Given the description of an element on the screen output the (x, y) to click on. 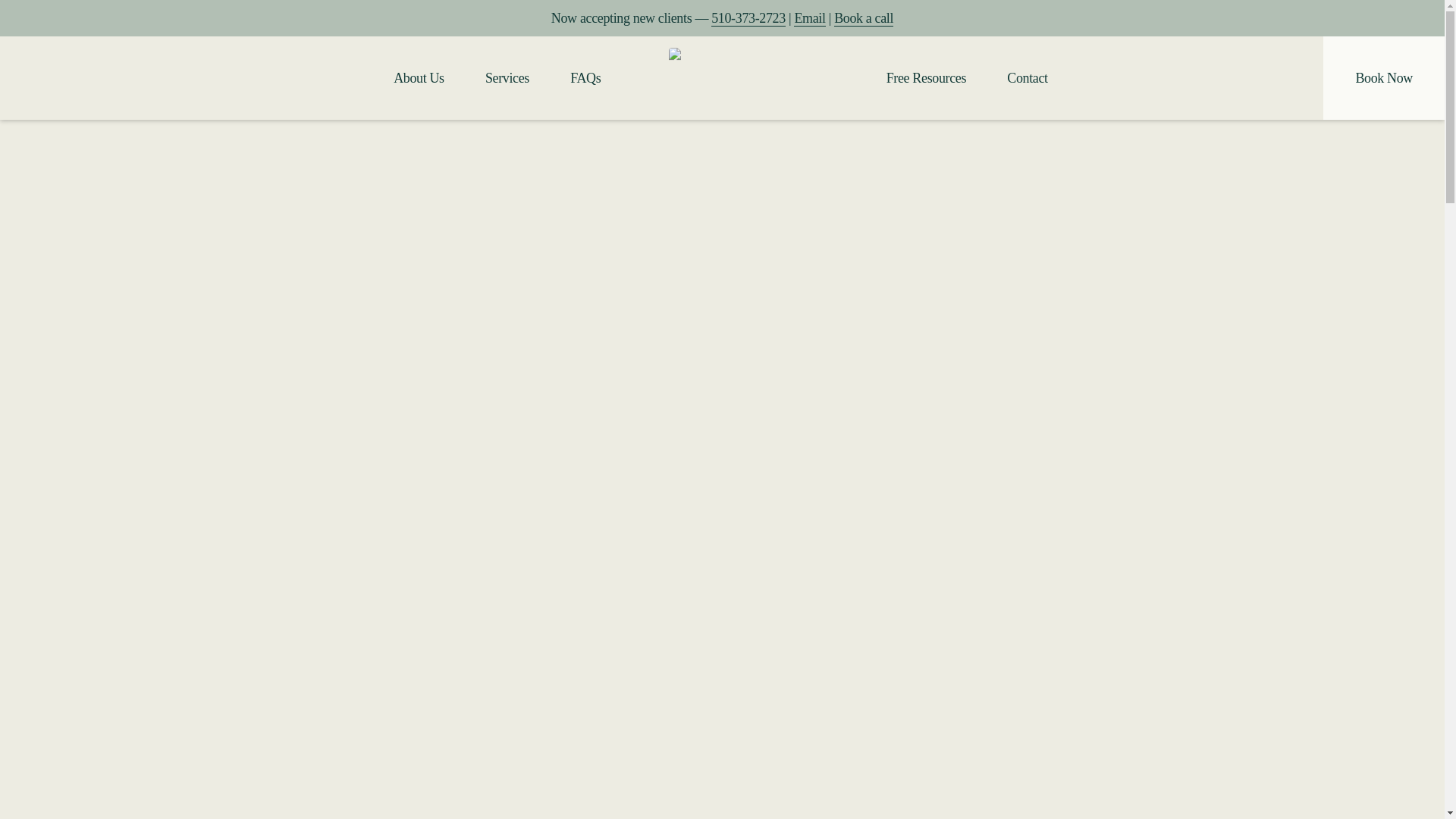
510-373-2723 (748, 18)
Book a call (863, 18)
Email (809, 18)
